Given the description of an element on the screen output the (x, y) to click on. 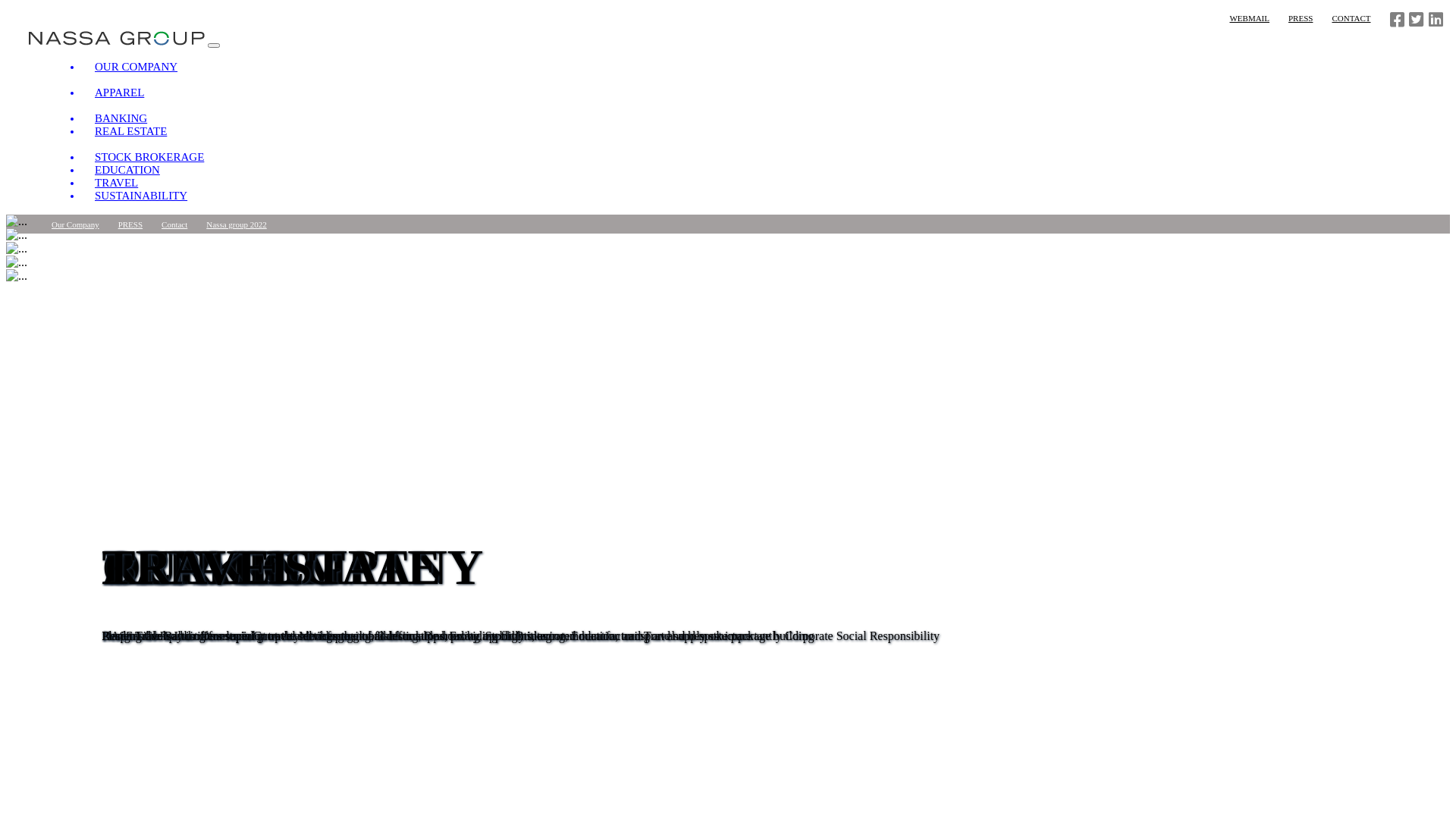
BANKING Element type: text (120, 118)
Our Company Element type: text (75, 224)
TRAVEL Element type: text (115, 182)
Nassa group 2022 Element type: text (236, 224)
EDUCATION Element type: text (126, 169)
OUR COMPANY Element type: text (135, 66)
REAL ESTATE Element type: text (130, 131)
WEBMAIL Element type: text (1249, 17)
PRESS Element type: text (1300, 17)
SUSTAINABILITY Element type: text (140, 195)
CONTACT Element type: text (1350, 17)
Contact Element type: text (174, 224)
STOCK BROKERAGE Element type: text (148, 156)
APPAREL Element type: text (118, 92)
PRESS Element type: text (130, 224)
